Given the description of an element on the screen output the (x, y) to click on. 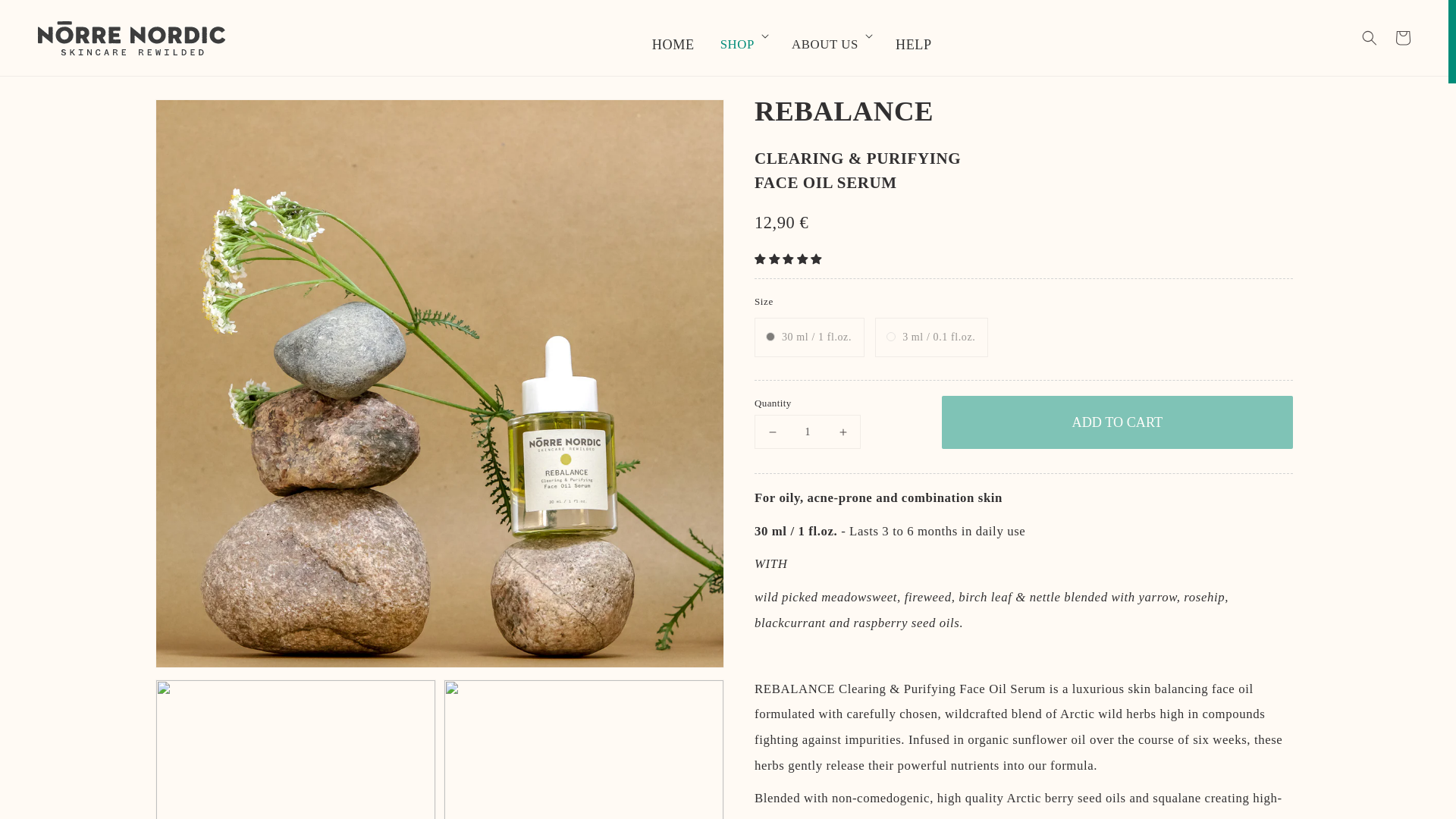
HELP (913, 35)
Cart (1402, 37)
HOME (673, 35)
SKIP TO CONTENT (56, 11)
1 (807, 431)
